Given the description of an element on the screen output the (x, y) to click on. 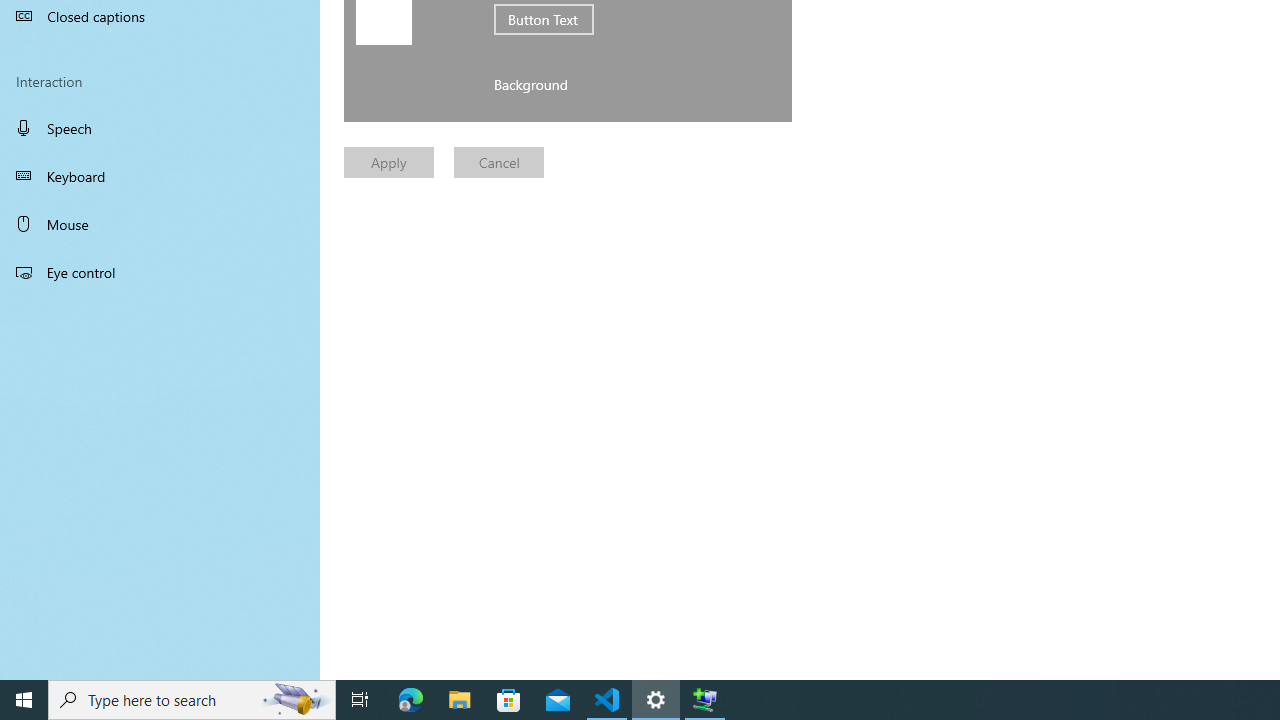
Keyboard (160, 175)
Mouse (160, 223)
